Given the description of an element on the screen output the (x, y) to click on. 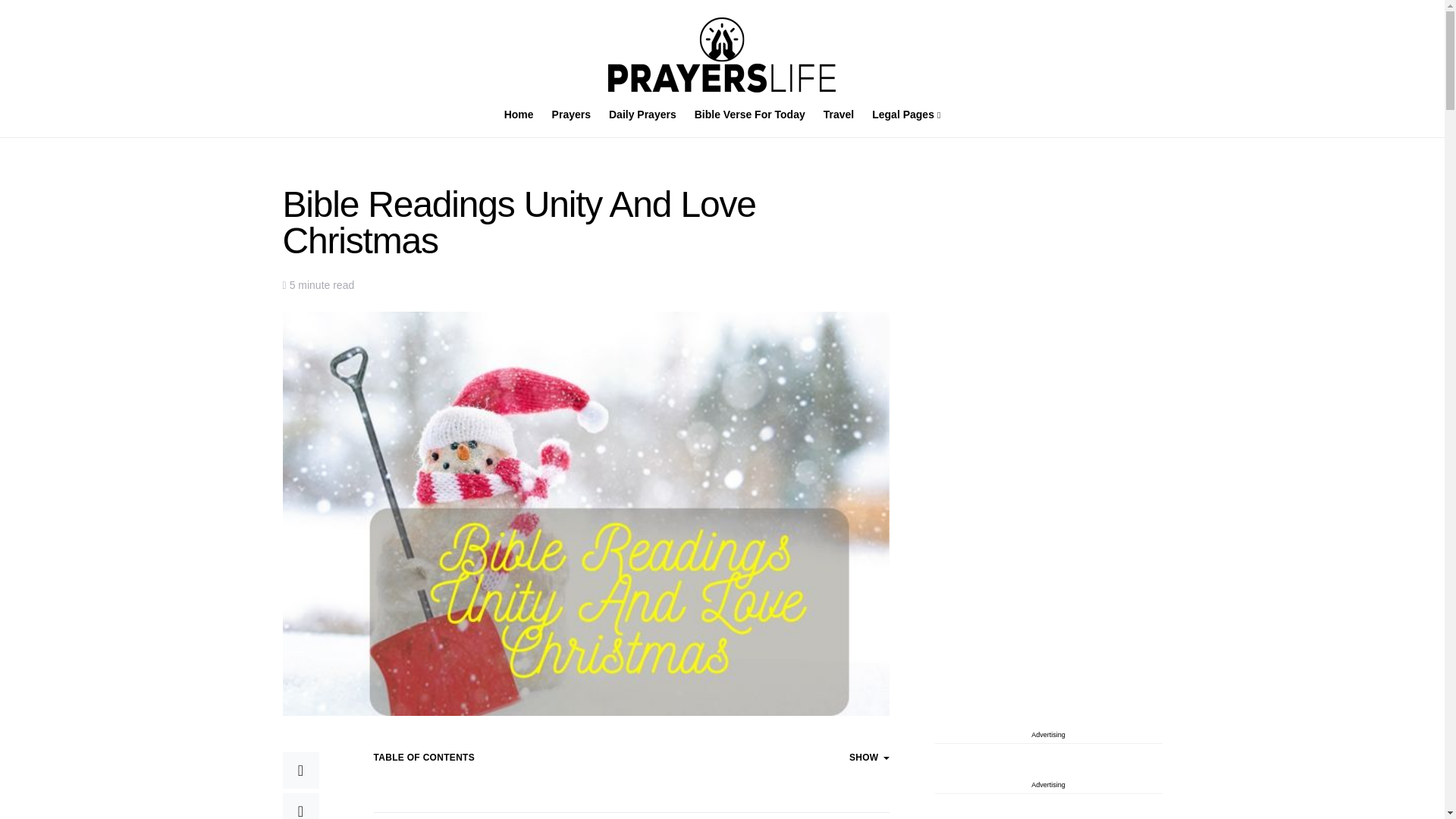
Bible Verse For Today (749, 115)
Travel (838, 115)
Prayers (571, 115)
Legal Pages (901, 115)
Daily Prayers (642, 115)
